Given the description of an element on the screen output the (x, y) to click on. 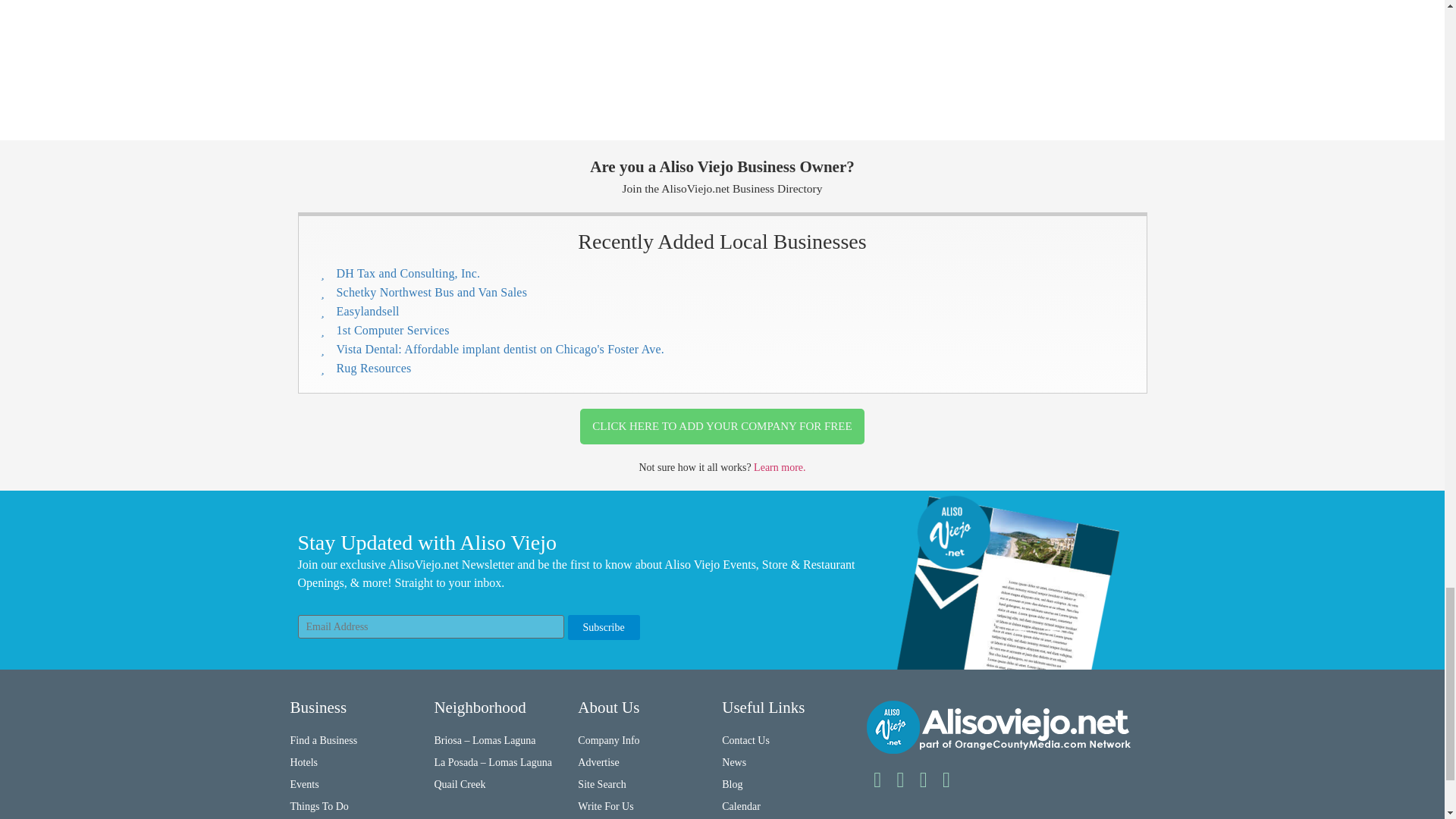
Subscribe (603, 627)
